Given the description of an element on the screen output the (x, y) to click on. 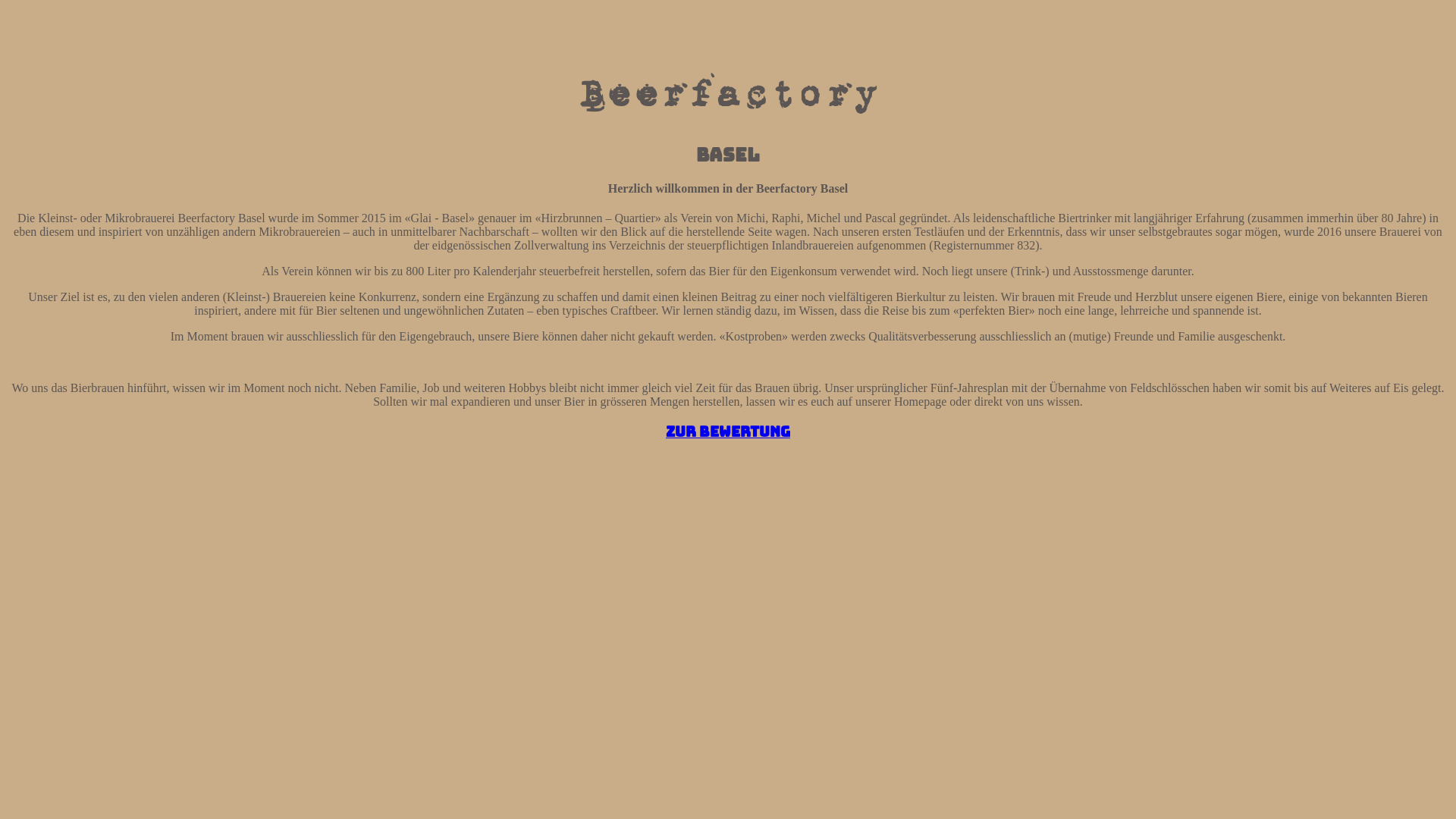
Zur Bewertung Element type: text (727, 431)
